Given the description of an element on the screen output the (x, y) to click on. 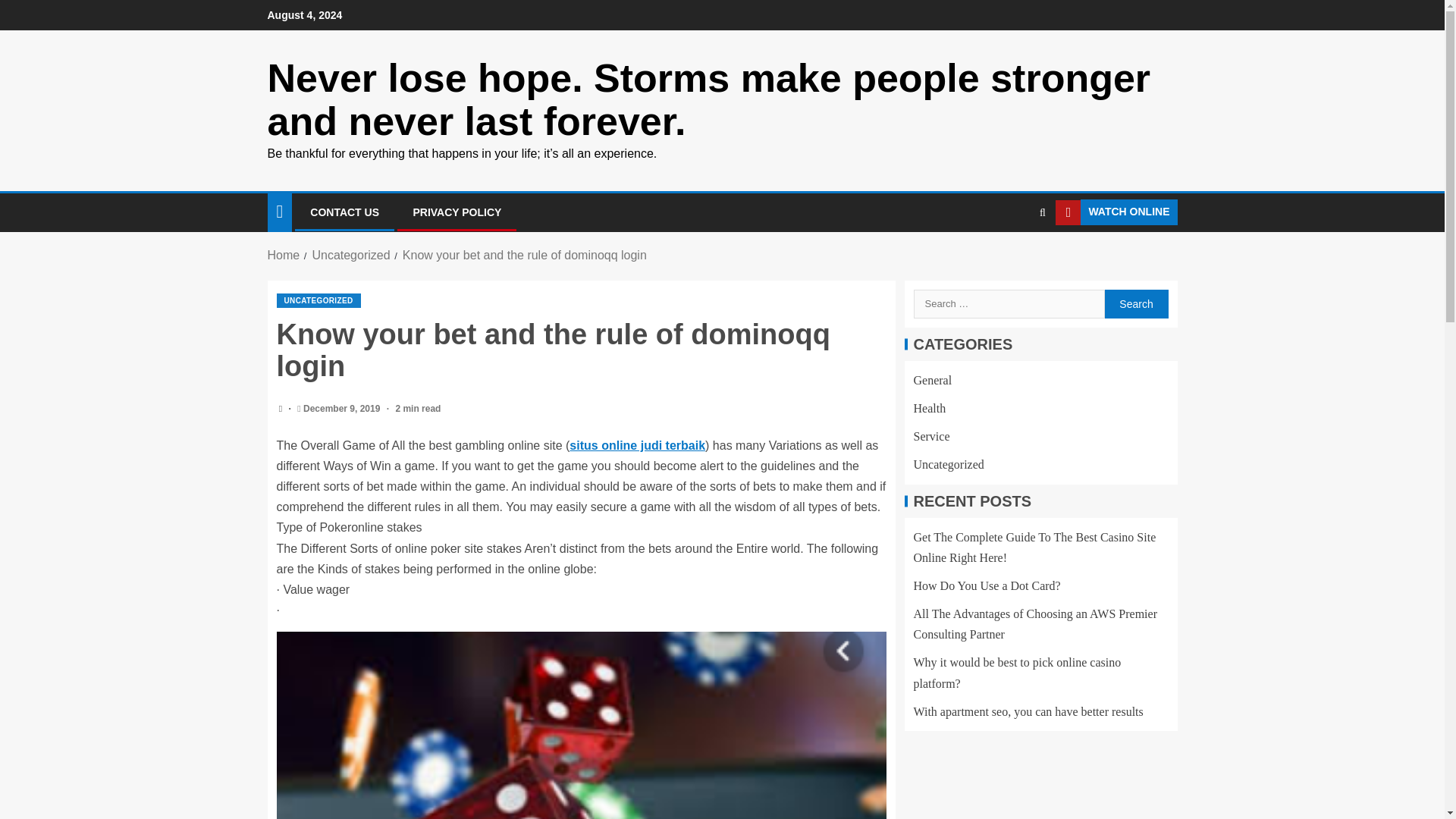
Search (1135, 303)
Health (928, 408)
How Do You Use a Dot Card? (985, 585)
PRIVACY POLICY (456, 212)
Service (930, 436)
Uncategorized (948, 463)
Know your bet and the rule of dominoqq login (524, 254)
Search (1135, 303)
UNCATEGORIZED (317, 300)
Home (282, 254)
Search (1135, 303)
General (932, 379)
Uncategorized (350, 254)
WATCH ONLINE (1115, 212)
